Given the description of an element on the screen output the (x, y) to click on. 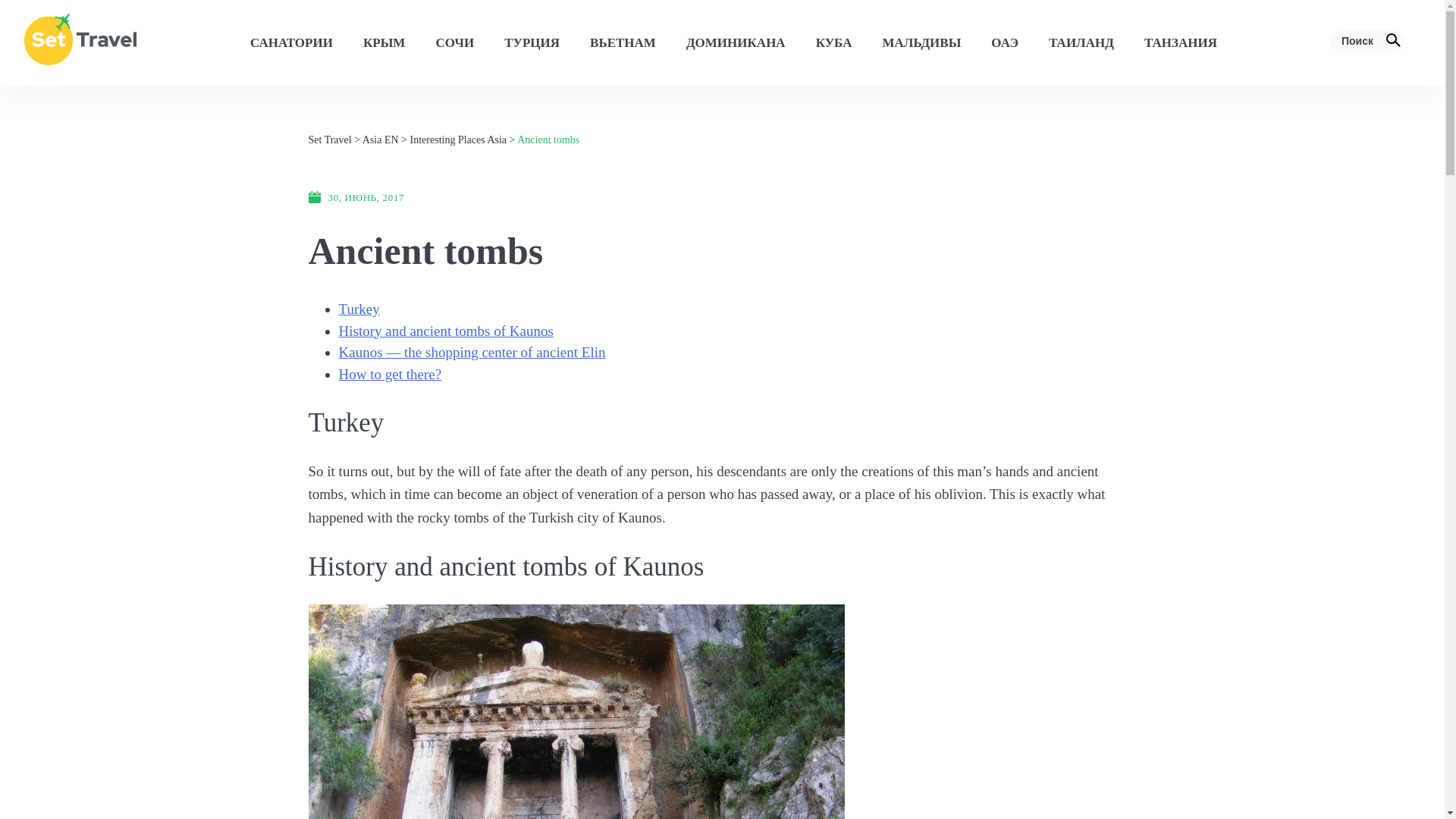
History and ancient tombs of Kaunos (445, 330)
Turkey (357, 308)
History and ancient tombs of Kaunos (445, 330)
Set Travel (328, 139)
How to get there? (389, 373)
How to get there? (389, 373)
Turkey (357, 308)
Asia EN (380, 139)
Ancient tombs 2 (575, 711)
Interesting Places Asia (458, 139)
